Given the description of an element on the screen output the (x, y) to click on. 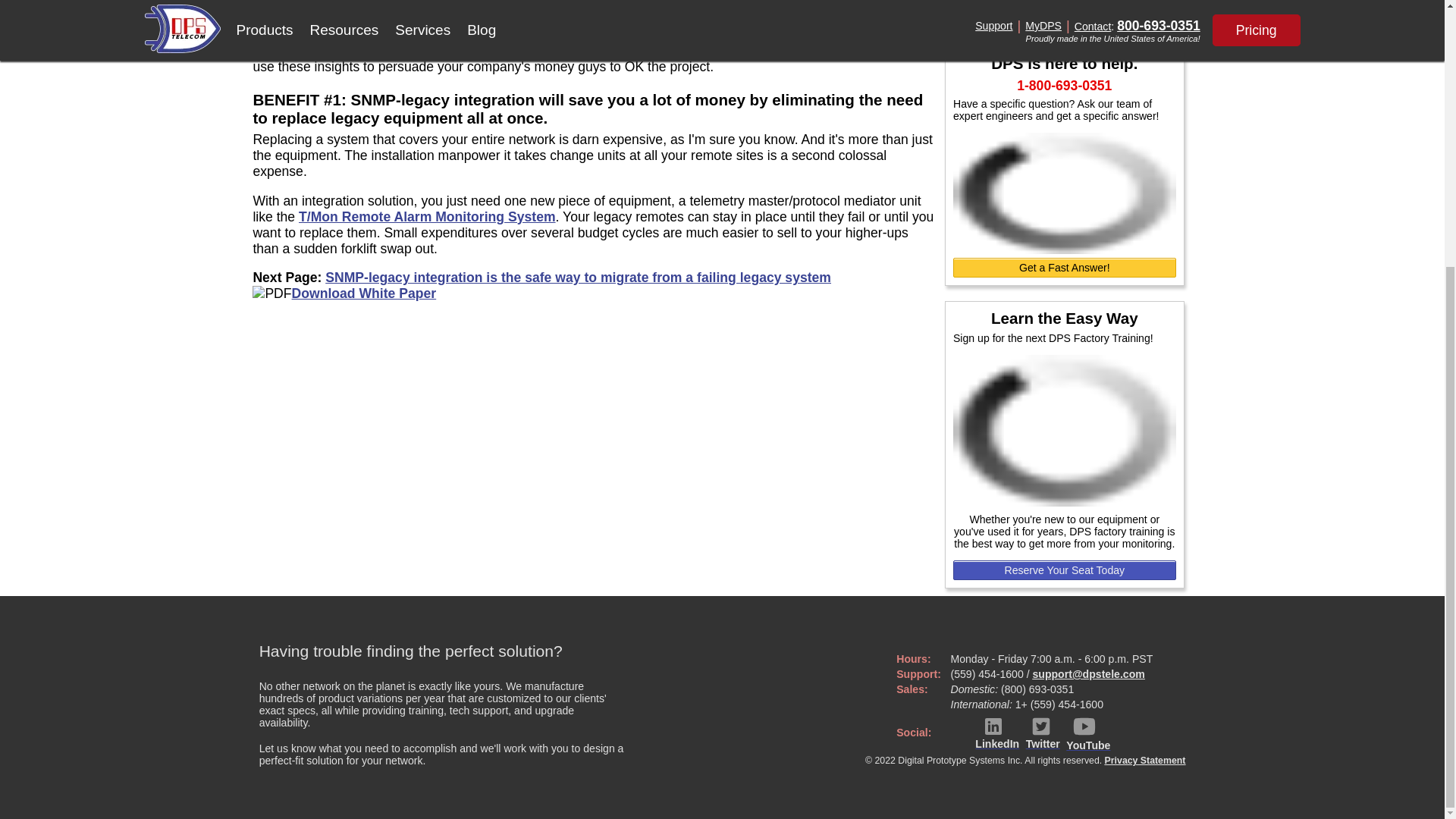
Get a Fast Answer! (1064, 267)
Twitter (1042, 732)
LinkedIn (997, 732)
YouTube (1087, 732)
Privacy Statement (1145, 760)
Download White Paper (364, 293)
Download White Paper (1064, 12)
Reserve Your Seat Today (1064, 569)
